Given the description of an element on the screen output the (x, y) to click on. 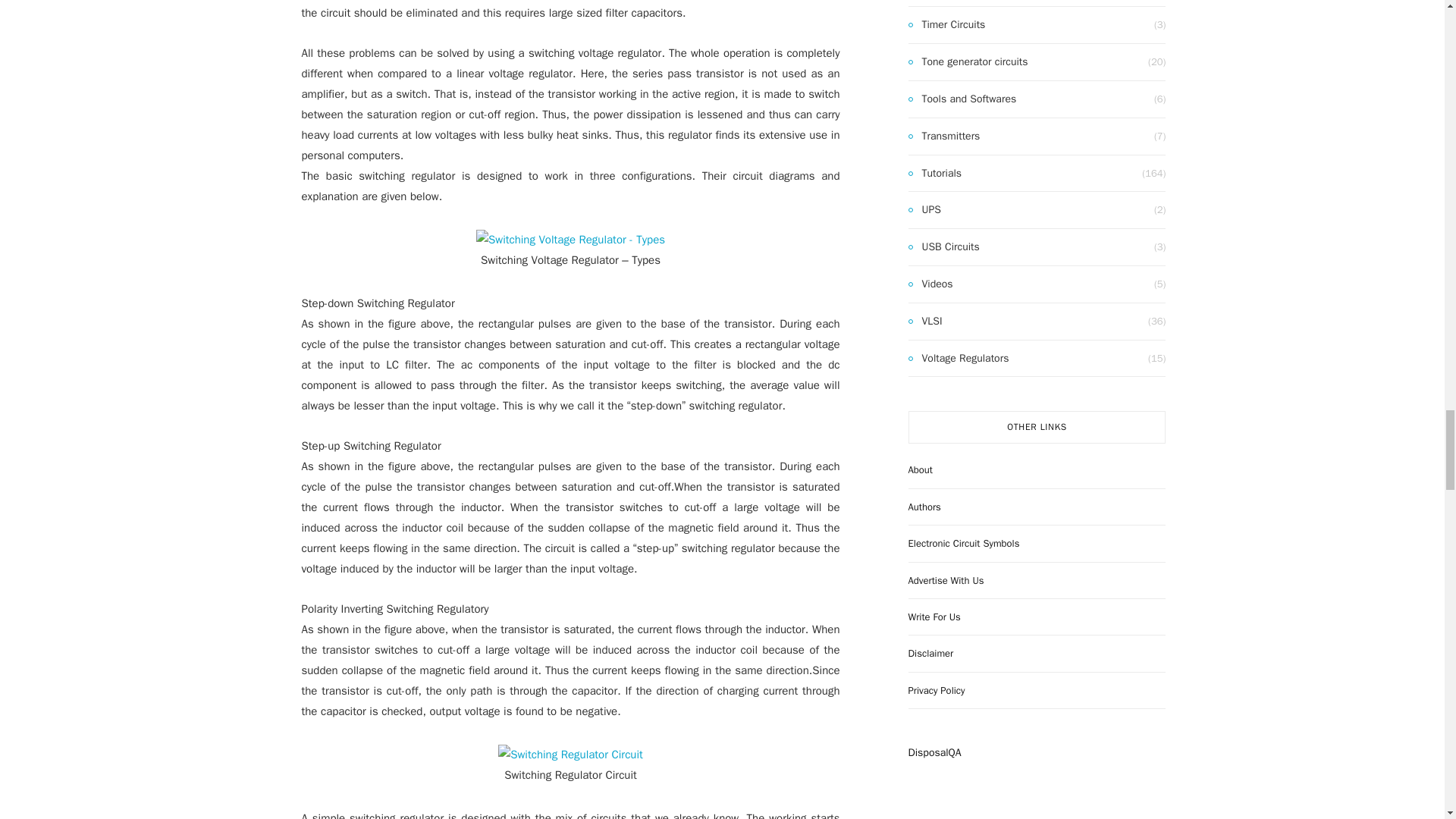
Topics on VLSI-Very Large Scale Integration (925, 321)
Switching Voltage Regulator - Types (570, 240)
Switching Regulator Circuit (570, 754)
